Given the description of an element on the screen output the (x, y) to click on. 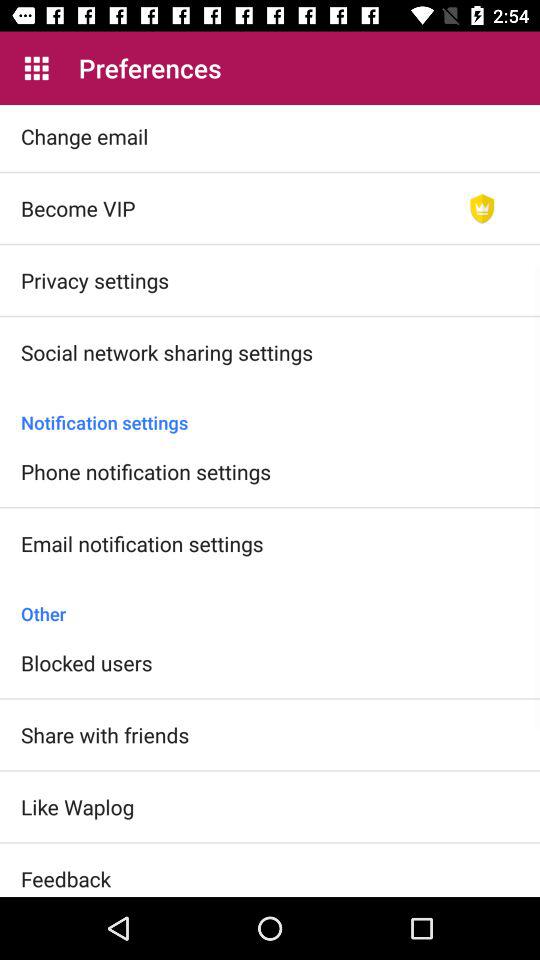
turn off icon above like waplog item (105, 734)
